Given the description of an element on the screen output the (x, y) to click on. 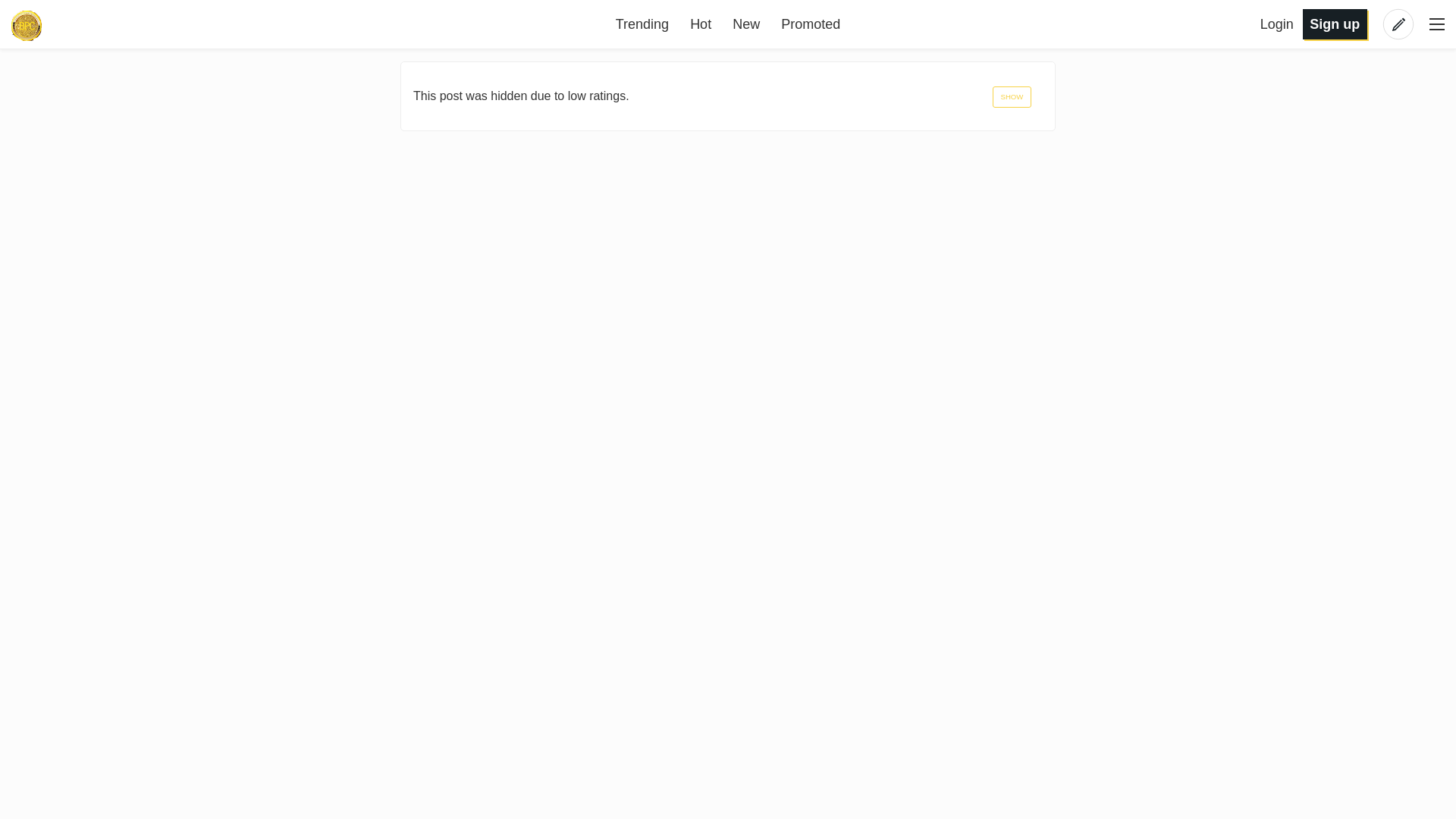
Sign up (1335, 23)
New (746, 23)
Login (1278, 23)
Trending (641, 23)
Hot (700, 23)
Promoted (810, 23)
SHOW (1011, 96)
